Given the description of an element on the screen output the (x, y) to click on. 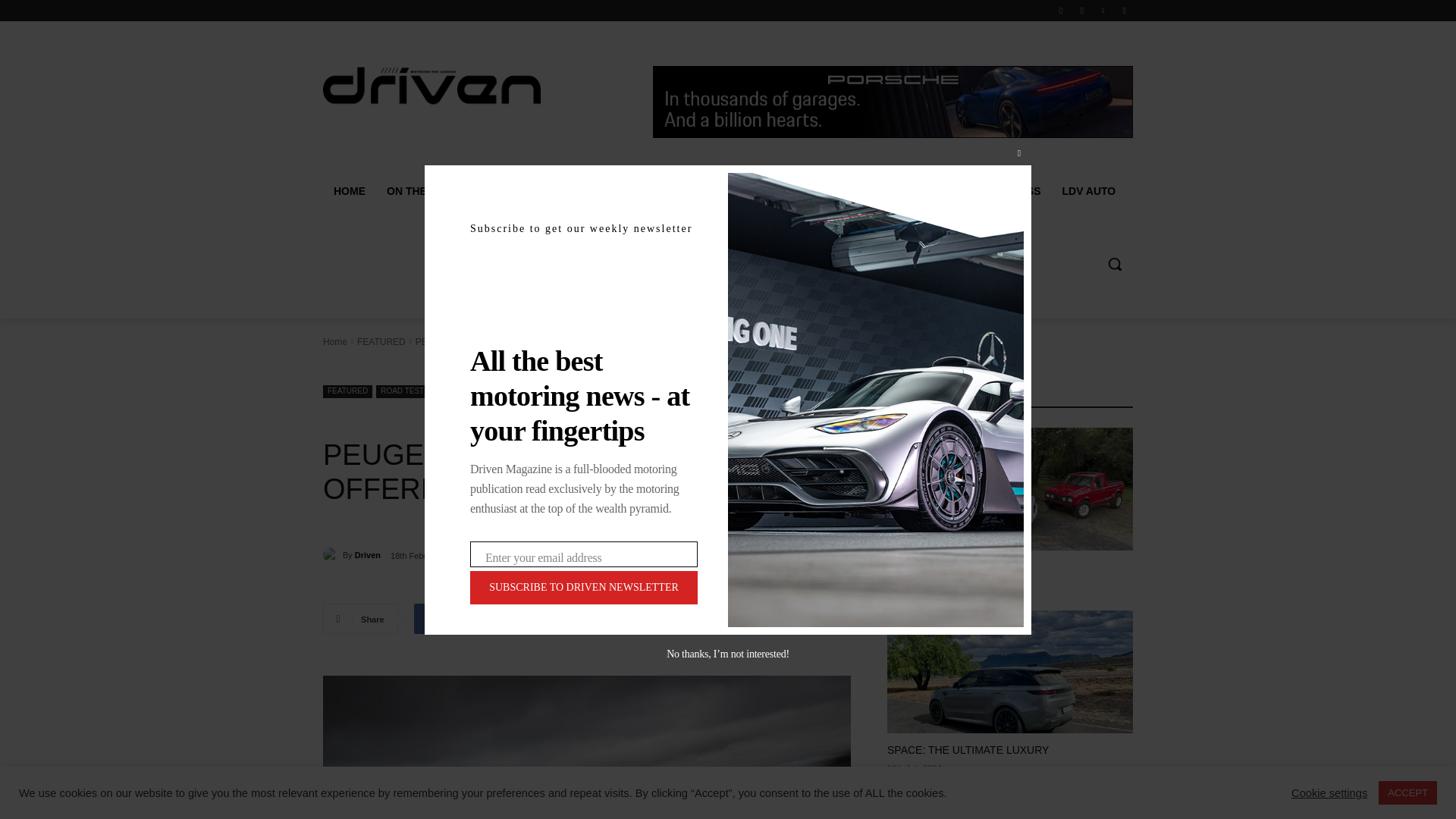
Twitter (1103, 9)
Facebook (1061, 9)
NEWS (518, 190)
HOME (349, 190)
LEISURE DRIVE (680, 190)
REVIEWS (589, 190)
Instagram (1082, 9)
ON THE COVER (431, 190)
Youtube (1123, 9)
HOME (349, 190)
